Given the description of an element on the screen output the (x, y) to click on. 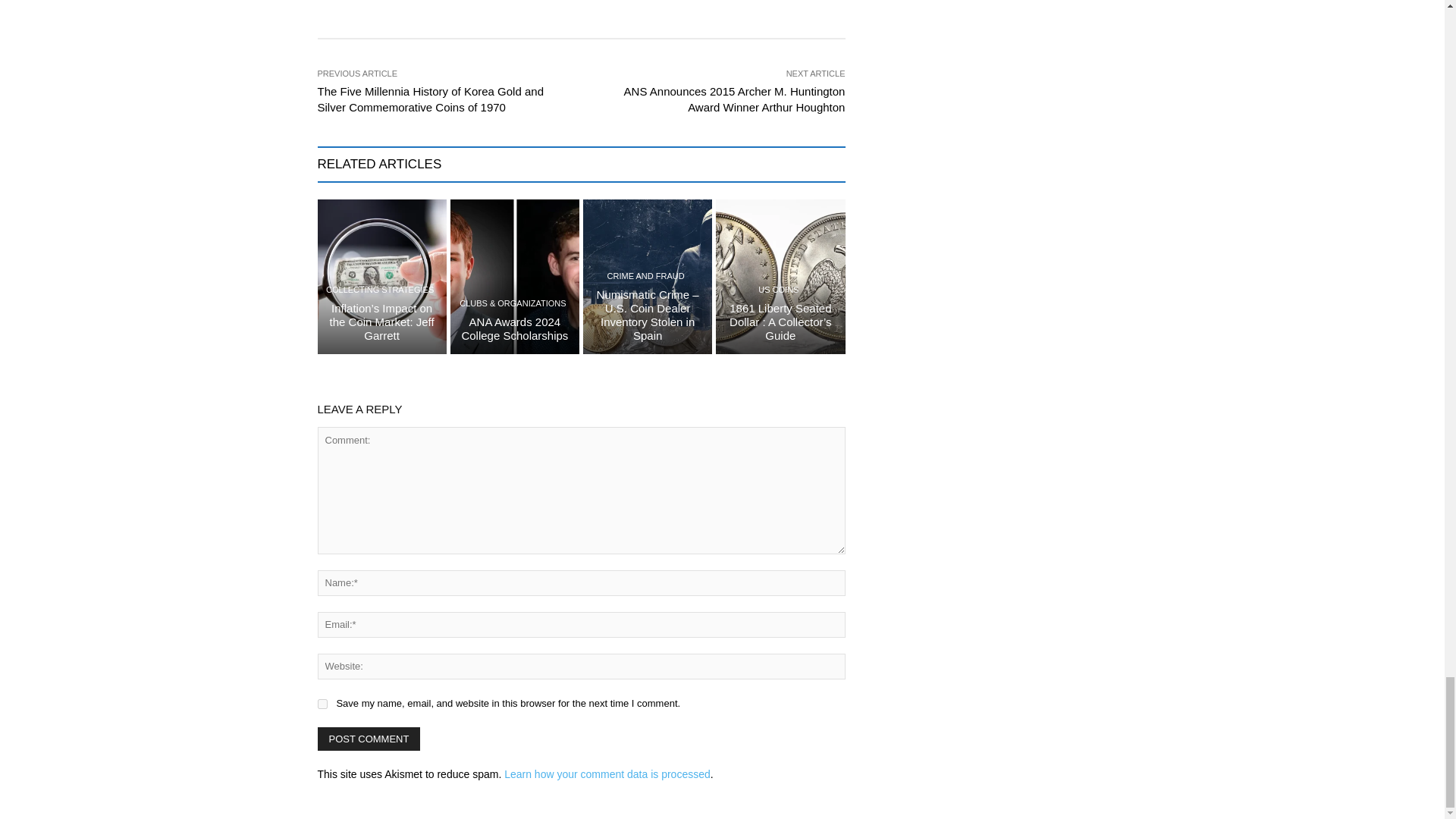
Post Comment (368, 739)
ANA Awards 2024 College Scholarships (514, 328)
yes (321, 704)
